Given the description of an element on the screen output the (x, y) to click on. 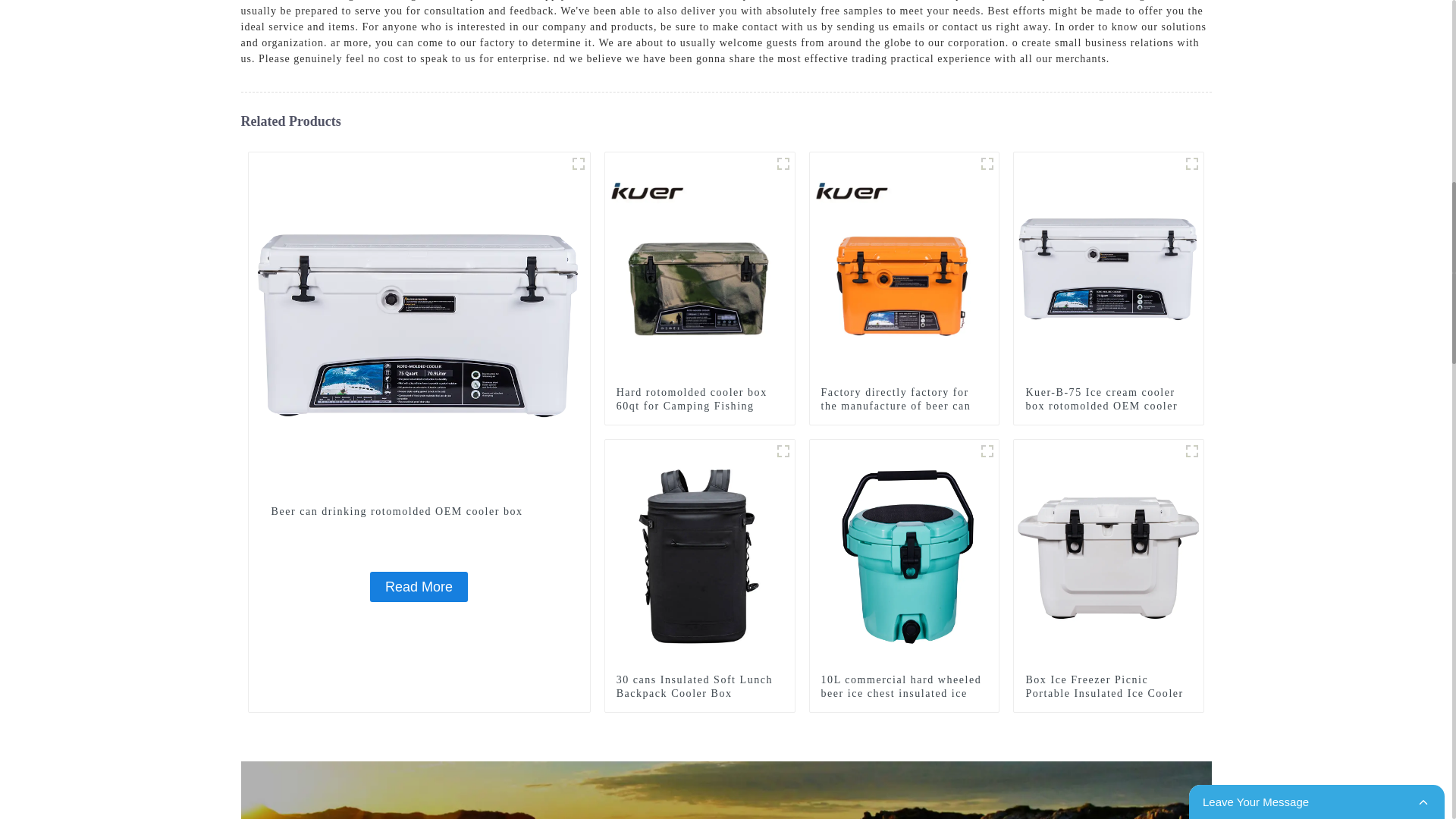
Beer can drinking rotomolded OEM cooler box (418, 322)
c-60-1 (782, 163)
Hard rotomolded cooler box 60qt  for Camping Fishing Hunting (699, 405)
Kuer-B-75 Ice cream cooler box  rotomolded OEM cooler box (1108, 405)
Hard rotomolded cooler box 60qt  for Camping Fishing Hunting (699, 265)
Beer can drinking rotomolded OEM cooler box (418, 511)
Beer can drinking rotomolded OEM cooler box (418, 586)
b-20-13 (986, 163)
Kuer-B-75 Ice cream cooler box  rotomolded OEM cooler box (1108, 265)
